Given the description of an element on the screen output the (x, y) to click on. 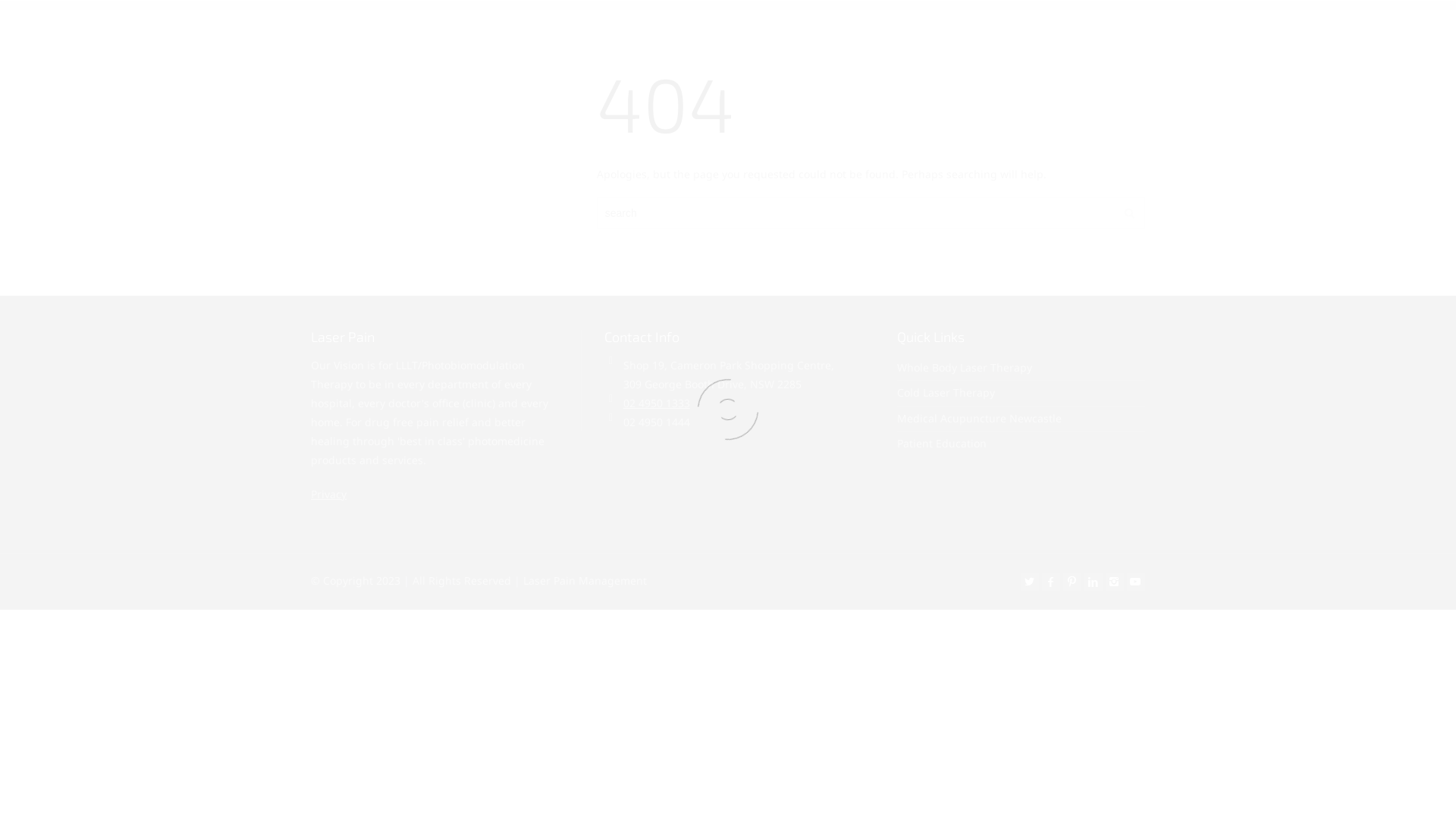
Cold Laser Therapy Element type: text (945, 392)
FAQ Element type: text (901, 37)
Whole Body Laser Therapy Element type: text (964, 367)
Privacy Element type: text (328, 493)
02 4950 1333 Element type: text (656, 402)
Pinterest Element type: hover (1072, 581)
Patient Education Element type: text (941, 443)
BOOK ONLINE Element type: text (1097, 37)
YouTube Element type: hover (1135, 581)
SERVICES Element type: text (726, 37)
HOME Element type: text (549, 37)
OUR FEE Element type: text (946, 37)
Facebook Element type: hover (1050, 581)
Search Element type: hover (1429, 36)
WHY LASER FOR PAIN? Element type: text (633, 37)
Medical Acupuncture Newcastle Element type: text (979, 418)
Linkedin Element type: hover (1093, 581)
Laser Pain Management Element type: hover (322, 38)
Instagram Element type: hover (1114, 581)
CONTACT US Element type: text (1011, 37)
Twitter Element type: hover (1029, 581)
CONDITIONS WE TREAT Element type: text (820, 37)
